Given the description of an element on the screen output the (x, y) to click on. 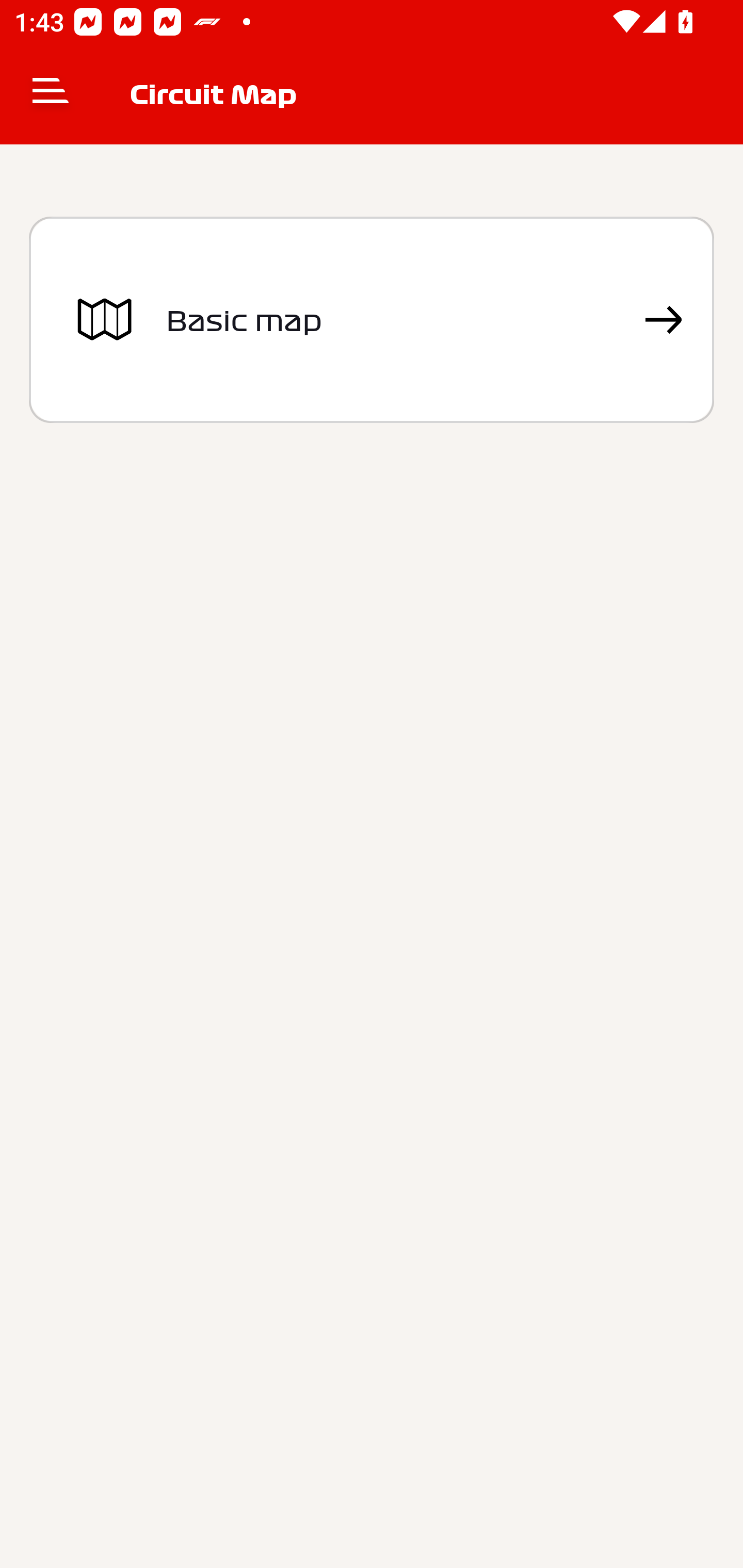
Navigate up (50, 93)
Basic map (371, 319)
